Given the description of an element on the screen output the (x, y) to click on. 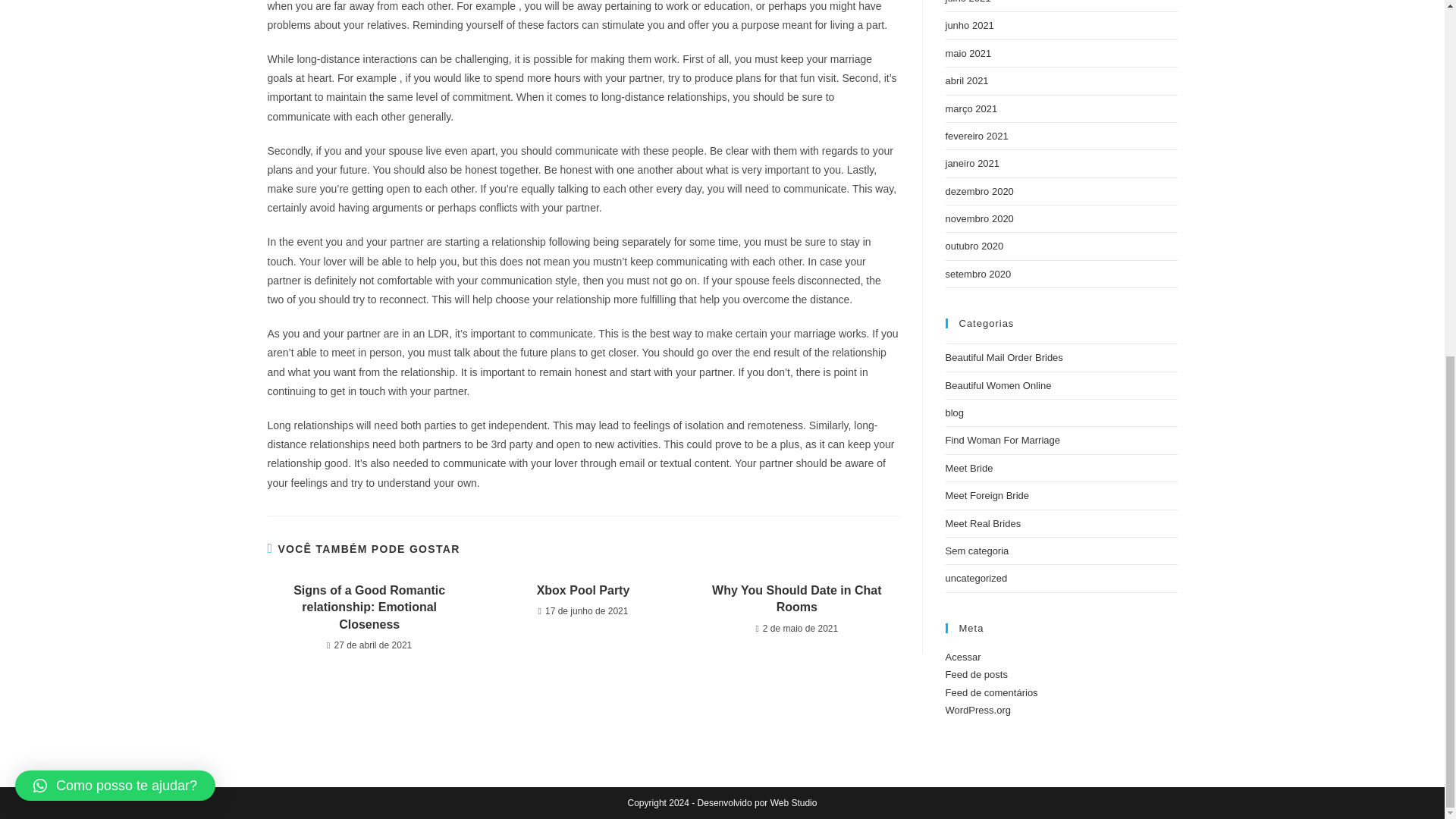
Xbox Pool Party (582, 590)
Why You Should Date in Chat Rooms (796, 599)
Signs of a Good Romantic relationship: Emotional Closeness (368, 607)
julho 2021 (967, 2)
